Given the description of an element on the screen output the (x, y) to click on. 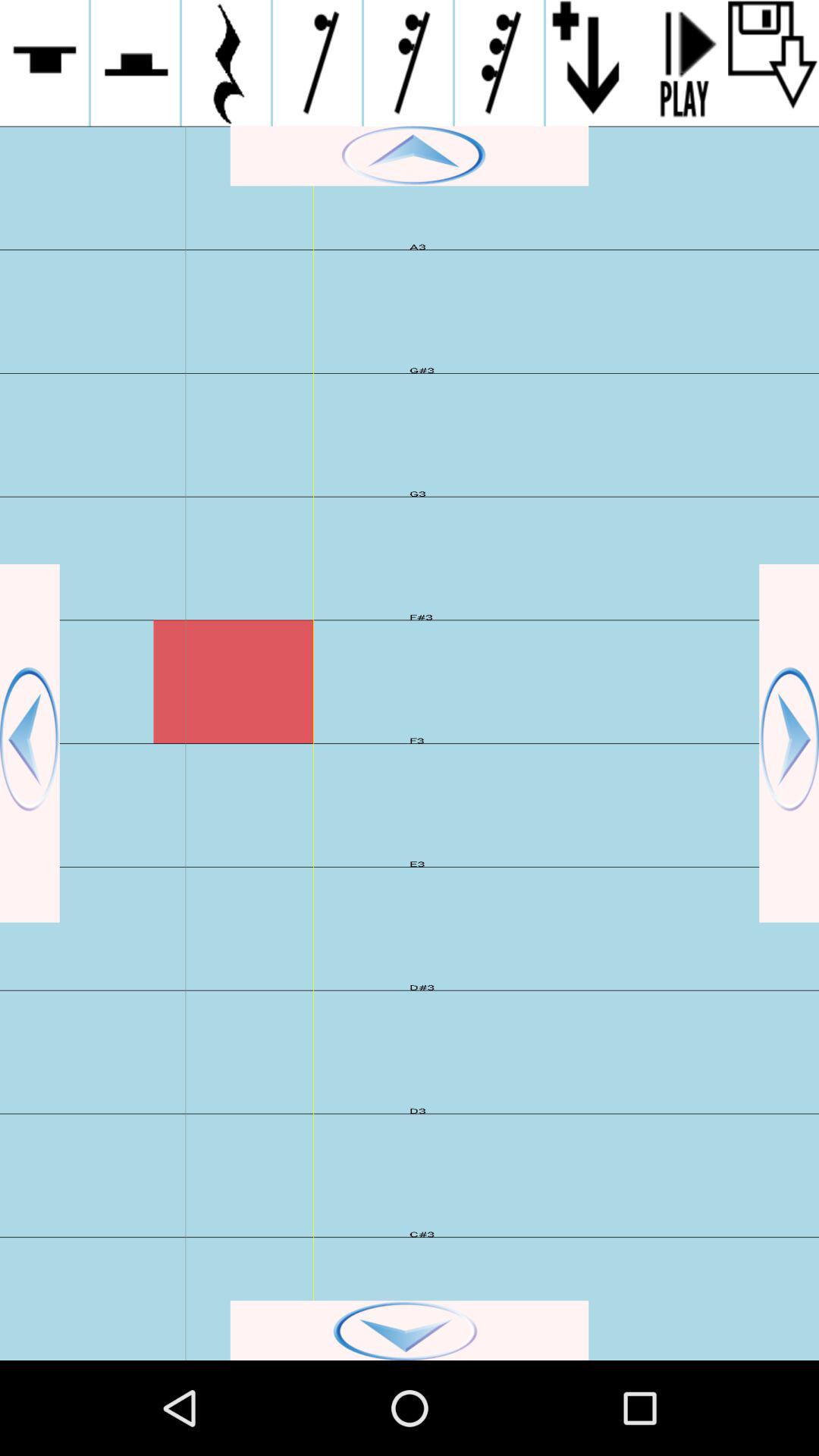
click on play (682, 63)
